Given the description of an element on the screen output the (x, y) to click on. 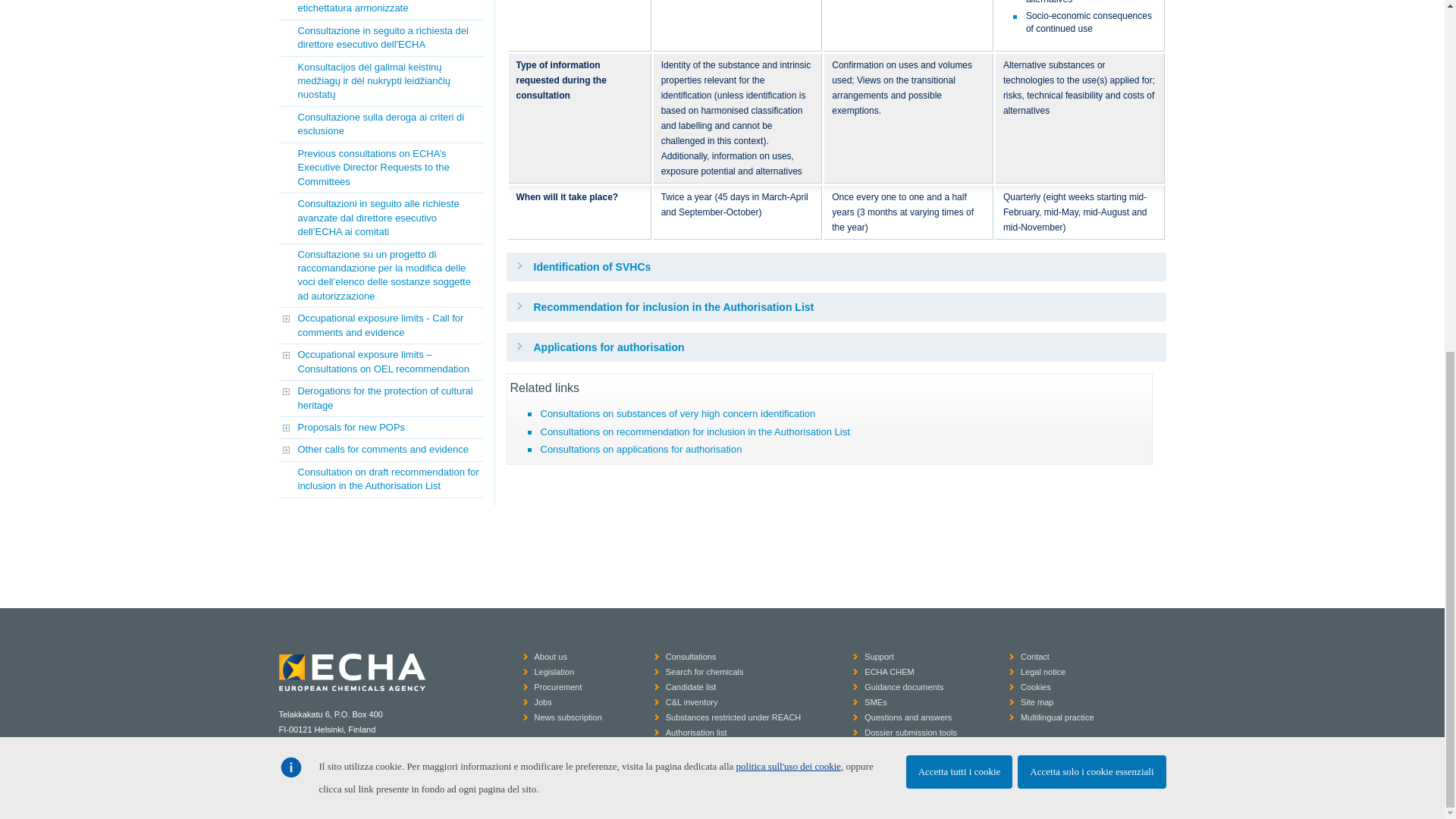
Accetta tutti i cookie (959, 160)
politica sull'uso dei cookie (788, 154)
Accetta solo i cookie essenziali (1091, 160)
